Given the description of an element on the screen output the (x, y) to click on. 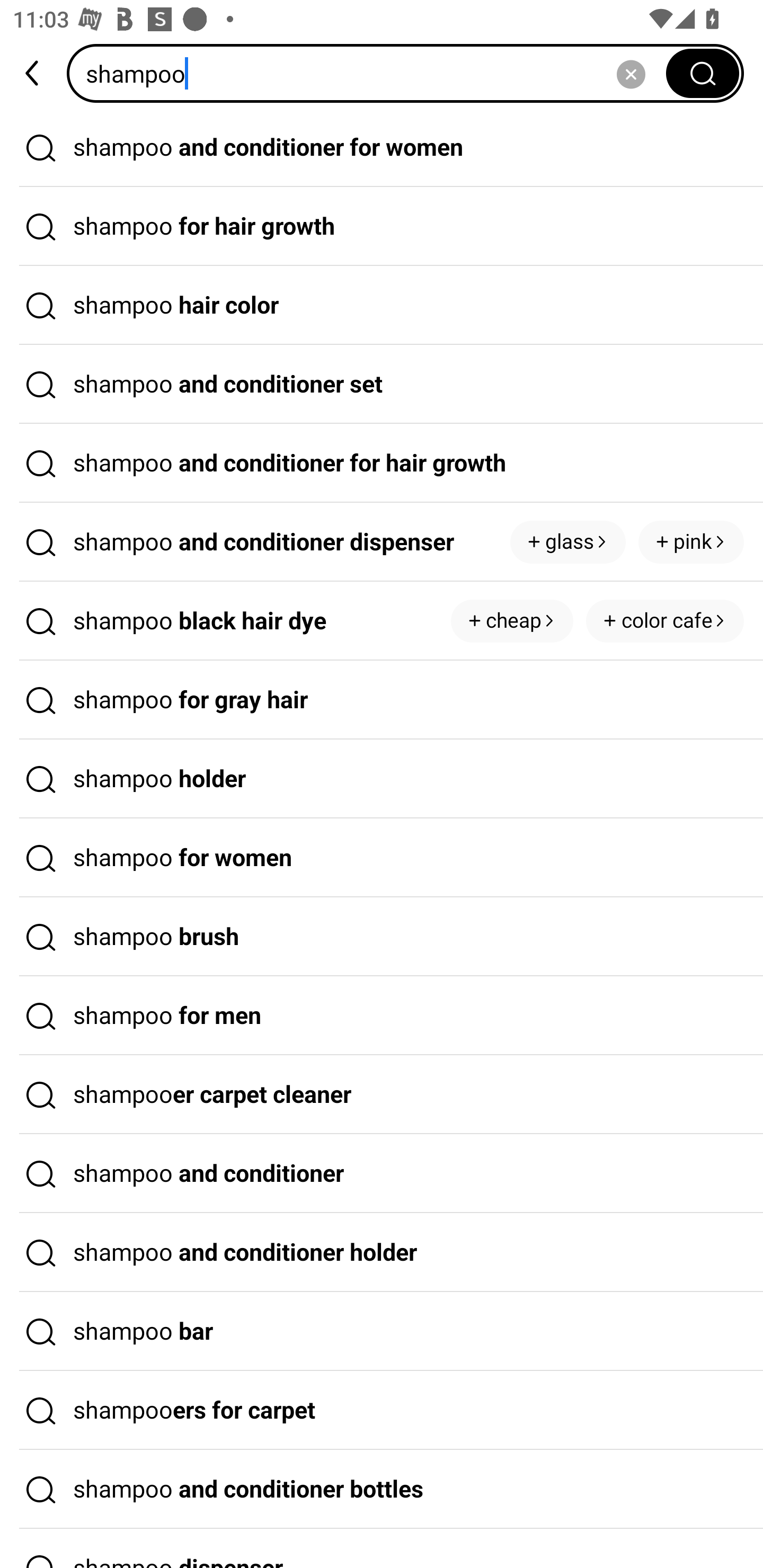
back (33, 72)
shampoo (372, 73)
Delete search history (630, 73)
shampoo and conditioner for women (381, 147)
shampoo for hair growth (381, 226)
shampoo hair color (381, 305)
shampoo and conditioner set (381, 383)
shampoo and conditioner for hair growth (381, 463)
shampoo and conditioner dispenser glass pink (381, 542)
glass (567, 541)
pink (690, 541)
shampoo black hair dye cheap color cafe (381, 620)
cheap (511, 620)
color cafe (664, 620)
shampoo for gray hair (381, 700)
shampoo holder (381, 779)
shampoo for women (381, 857)
shampoo brush (381, 936)
shampoo for men (381, 1015)
shampooer carpet cleaner (381, 1094)
shampoo and conditioner (381, 1173)
shampoo and conditioner holder (381, 1252)
shampoo bar (381, 1331)
shampooers for carpet (381, 1410)
shampoo and conditioner bottles (381, 1489)
